Given the description of an element on the screen output the (x, y) to click on. 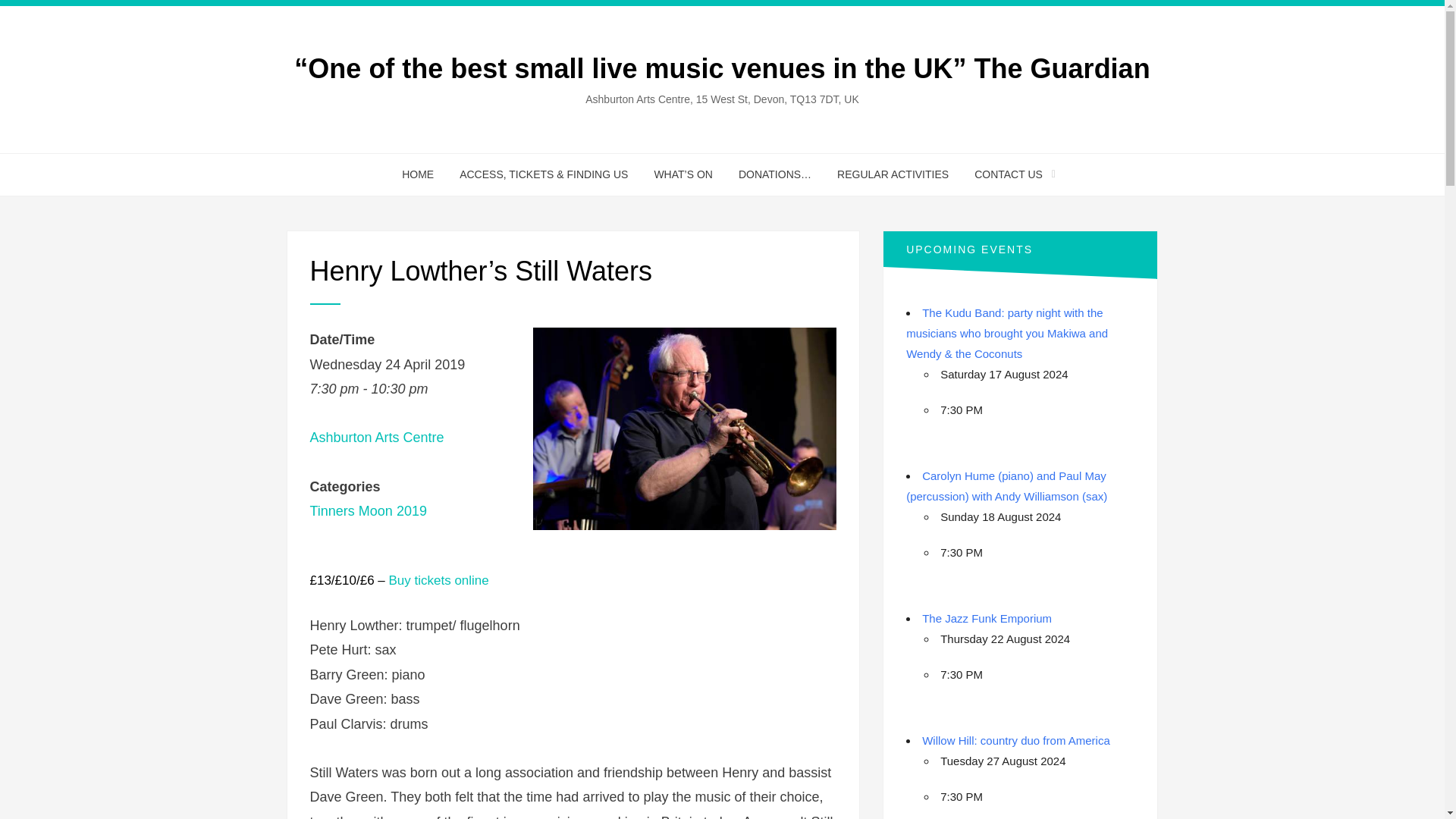
The Jazz Funk Emporium (986, 617)
Buy tickets online (437, 580)
Tinners Moon 2019 (367, 510)
HOME (417, 174)
Ashburton Arts Centre (376, 437)
REGULAR ACTIVITIES (892, 174)
Willow Hill: country duo from America (1015, 739)
CONTACT US (1007, 174)
